Given the description of an element on the screen output the (x, y) to click on. 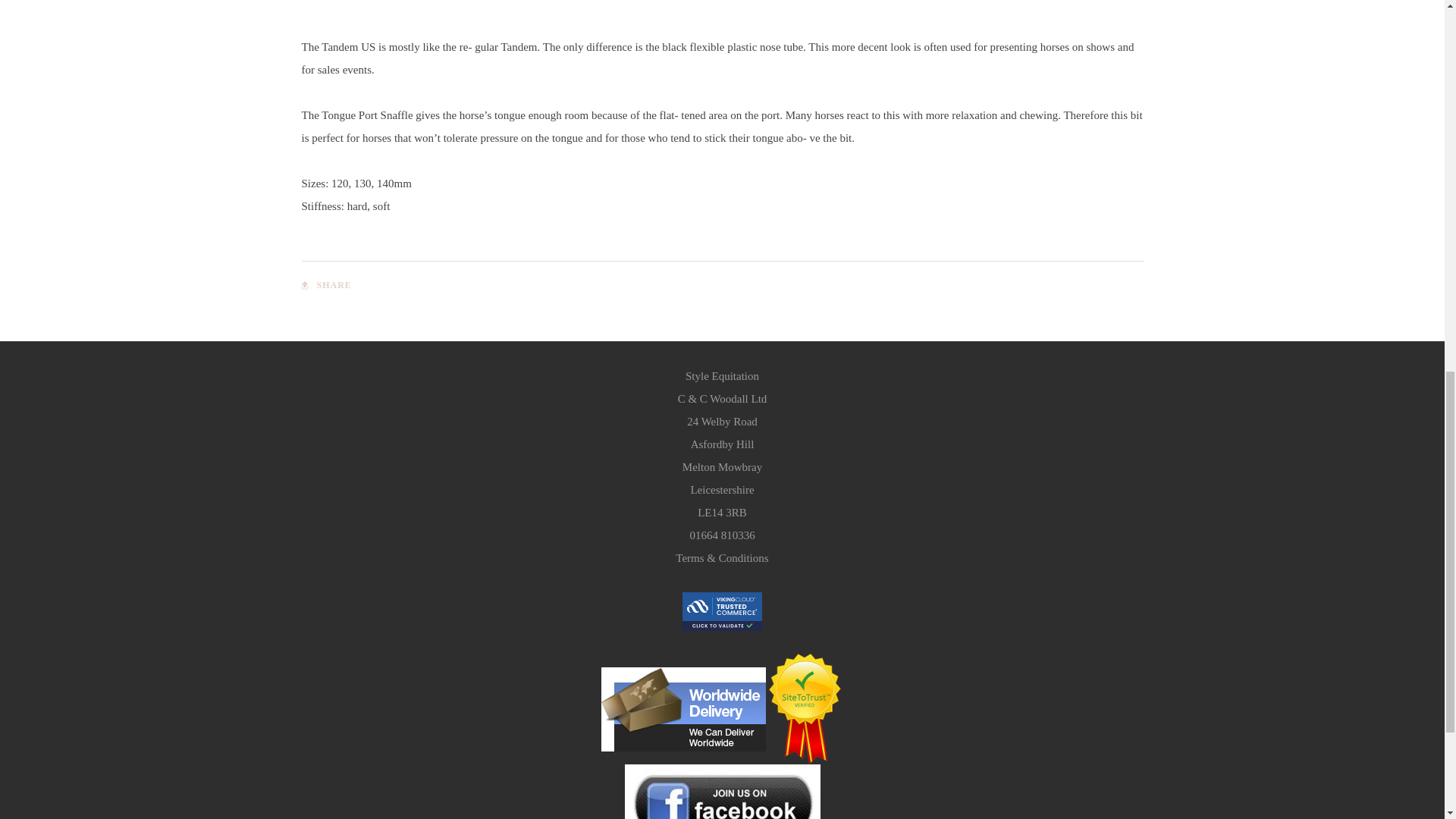
worldwide-delivery (683, 709)
SHARE (326, 285)
Face book logo (722, 791)
